Given the description of an element on the screen output the (x, y) to click on. 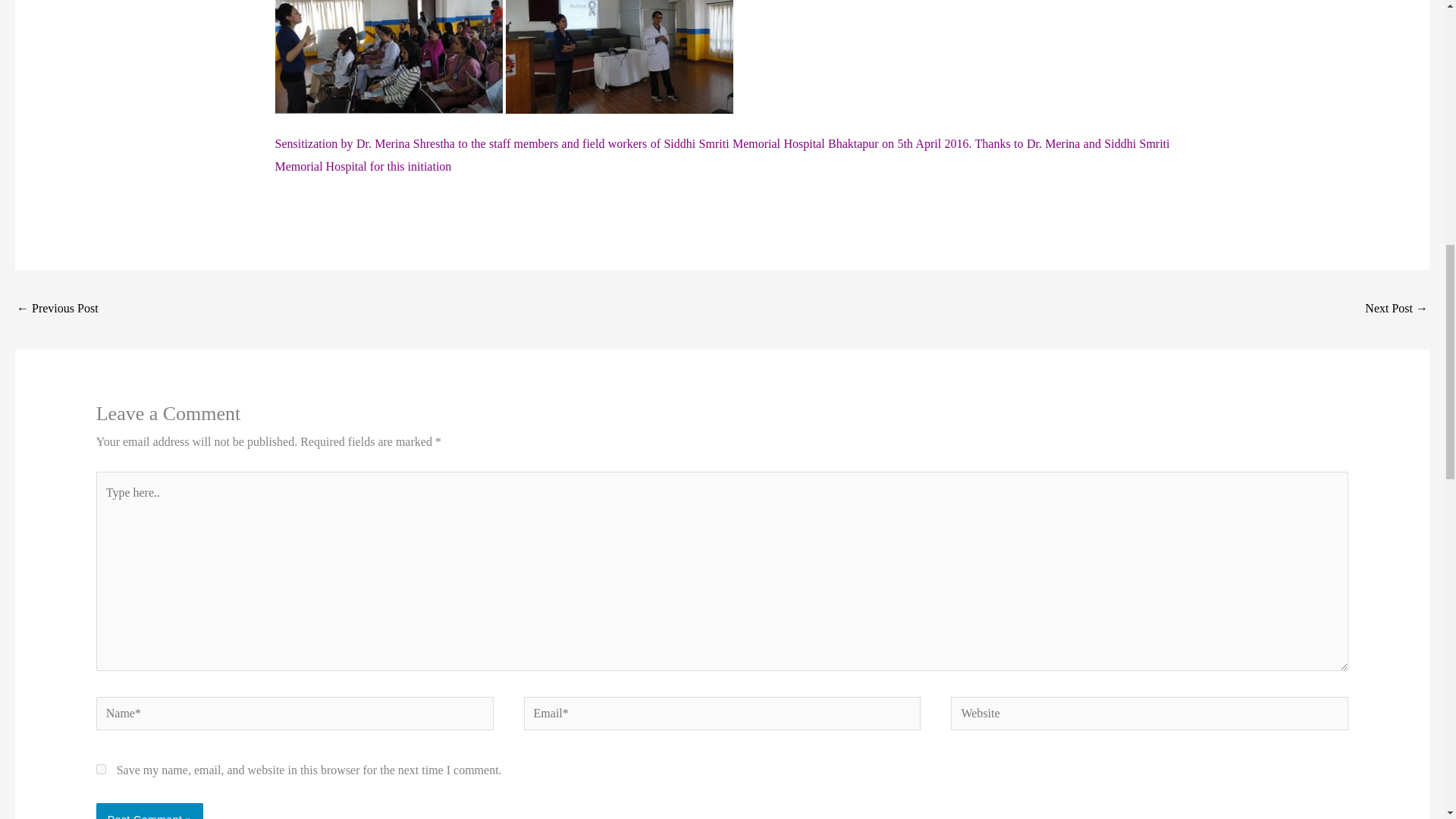
yes (101, 768)
Occupational therapy and Physiotherapy (57, 309)
World Autism Awareness Day 2016 (1396, 309)
